Given the description of an element on the screen output the (x, y) to click on. 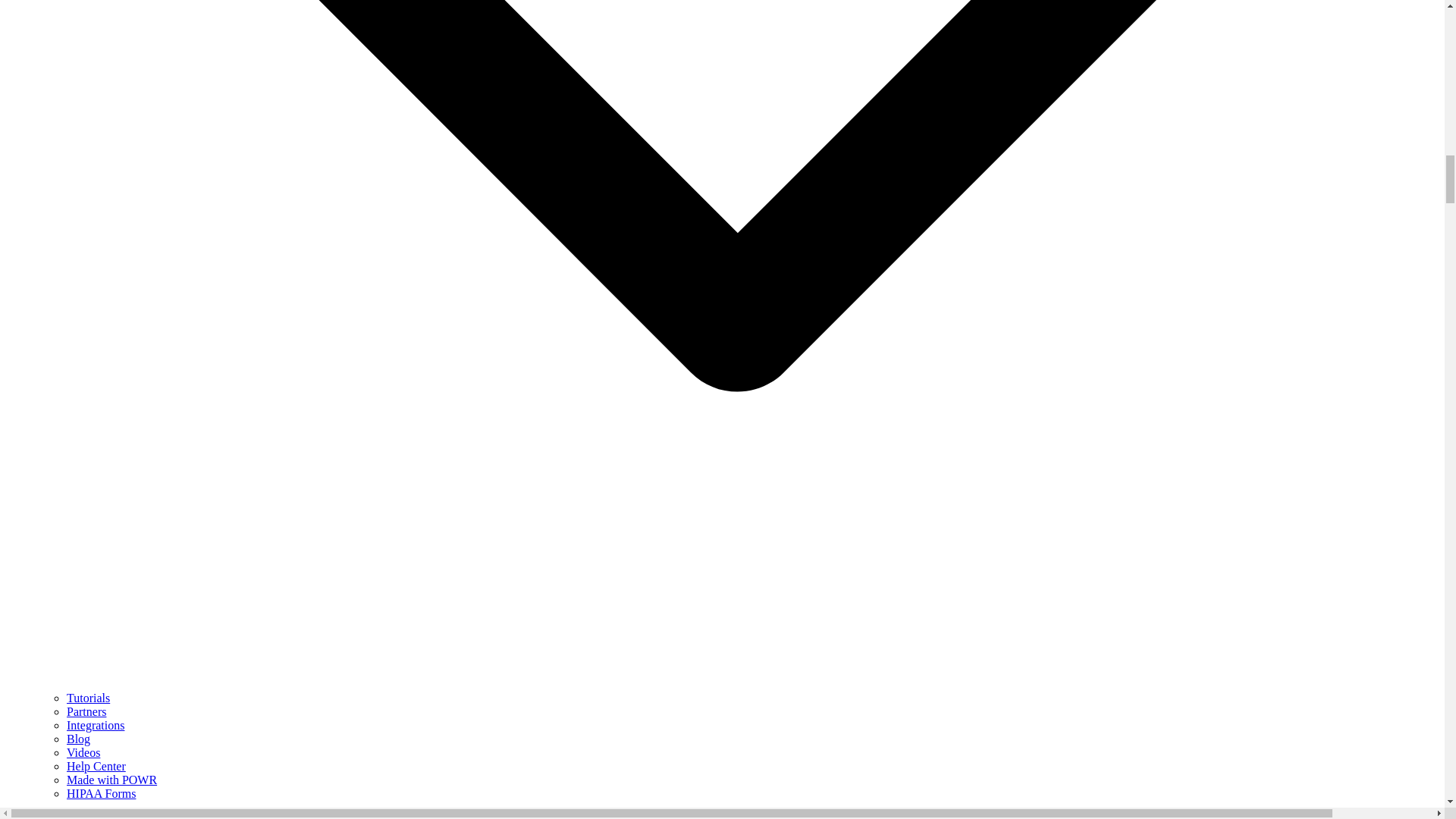
Partners (86, 711)
HIPAA Forms (100, 793)
Help Center (95, 766)
Made with POWR (111, 779)
Integrations (94, 725)
Tutorials (88, 697)
Videos (83, 752)
Log In (95, 816)
Blog (78, 738)
Sign Up FREE (41, 816)
